Given the description of an element on the screen output the (x, y) to click on. 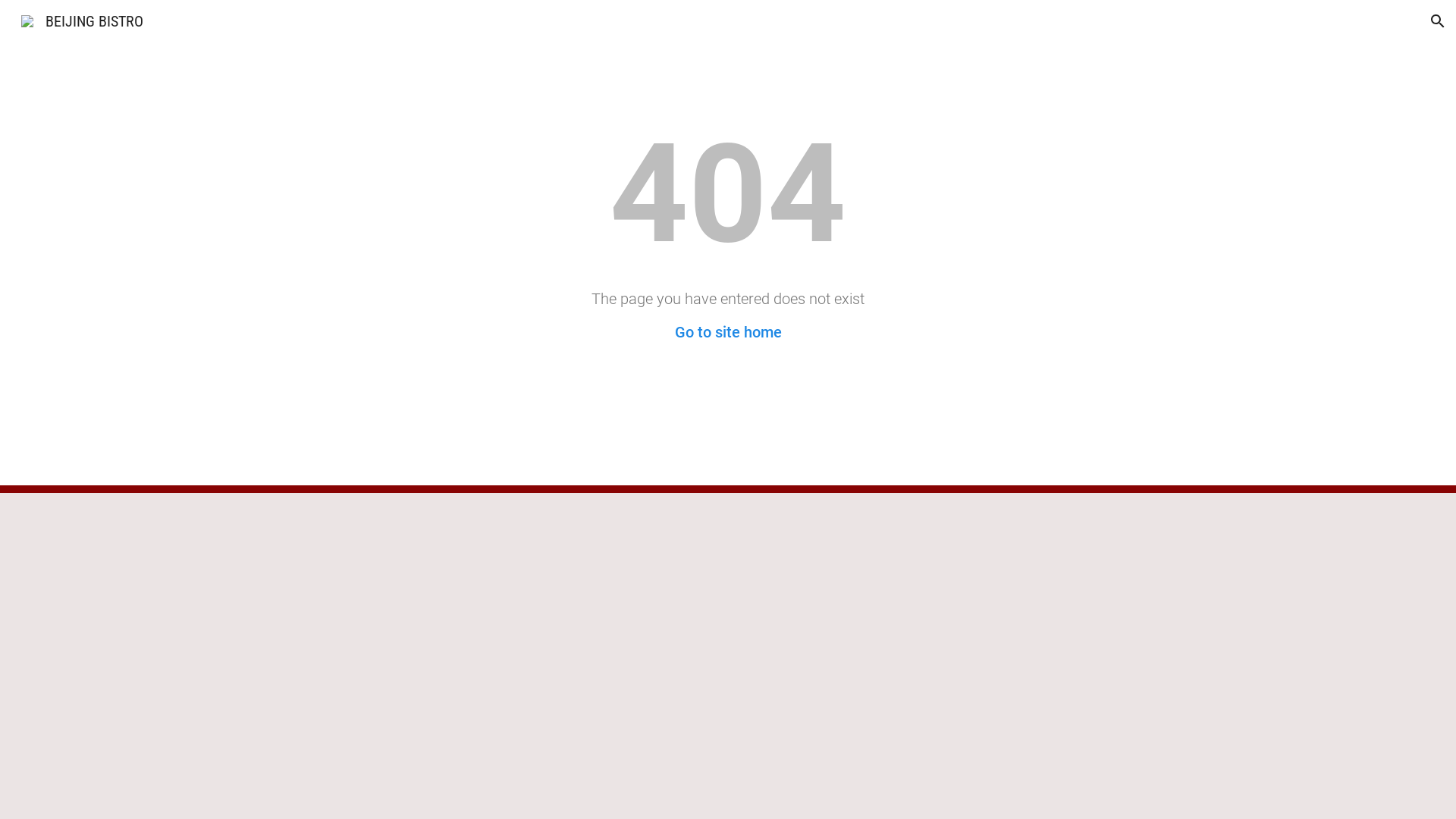
BEIJING BISTRO Element type: text (82, 19)
Go to site home Element type: text (727, 332)
